Given the description of an element on the screen output the (x, y) to click on. 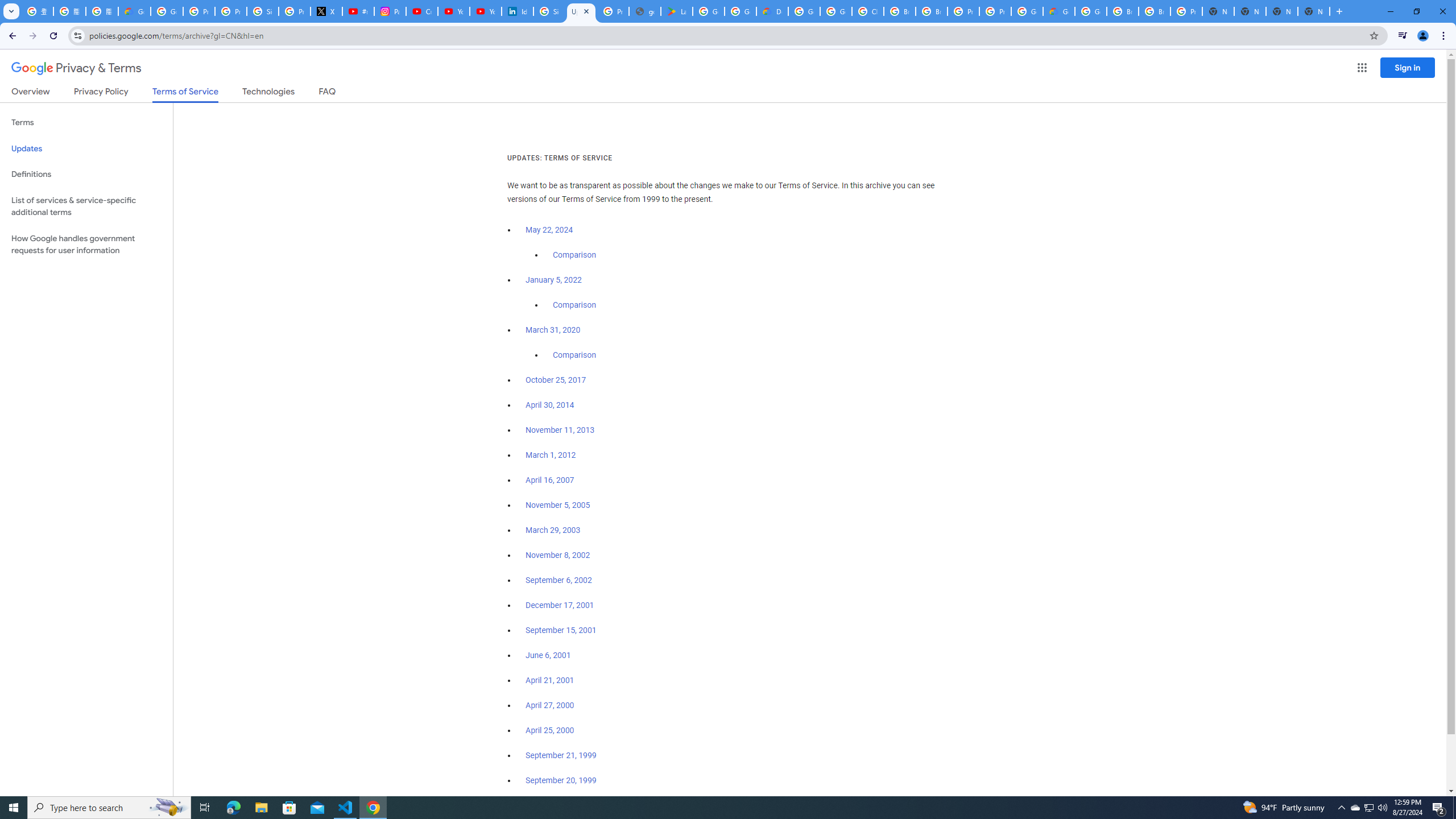
November 8, 2002 (557, 555)
Last Shelter: Survival - Apps on Google Play (676, 11)
Comparison (574, 355)
December 17, 2001 (559, 605)
Google Workspace - Specific Terms (740, 11)
Google Cloud Platform (1027, 11)
April 27, 2000 (550, 705)
New Tab (1281, 11)
